Given the description of an element on the screen output the (x, y) to click on. 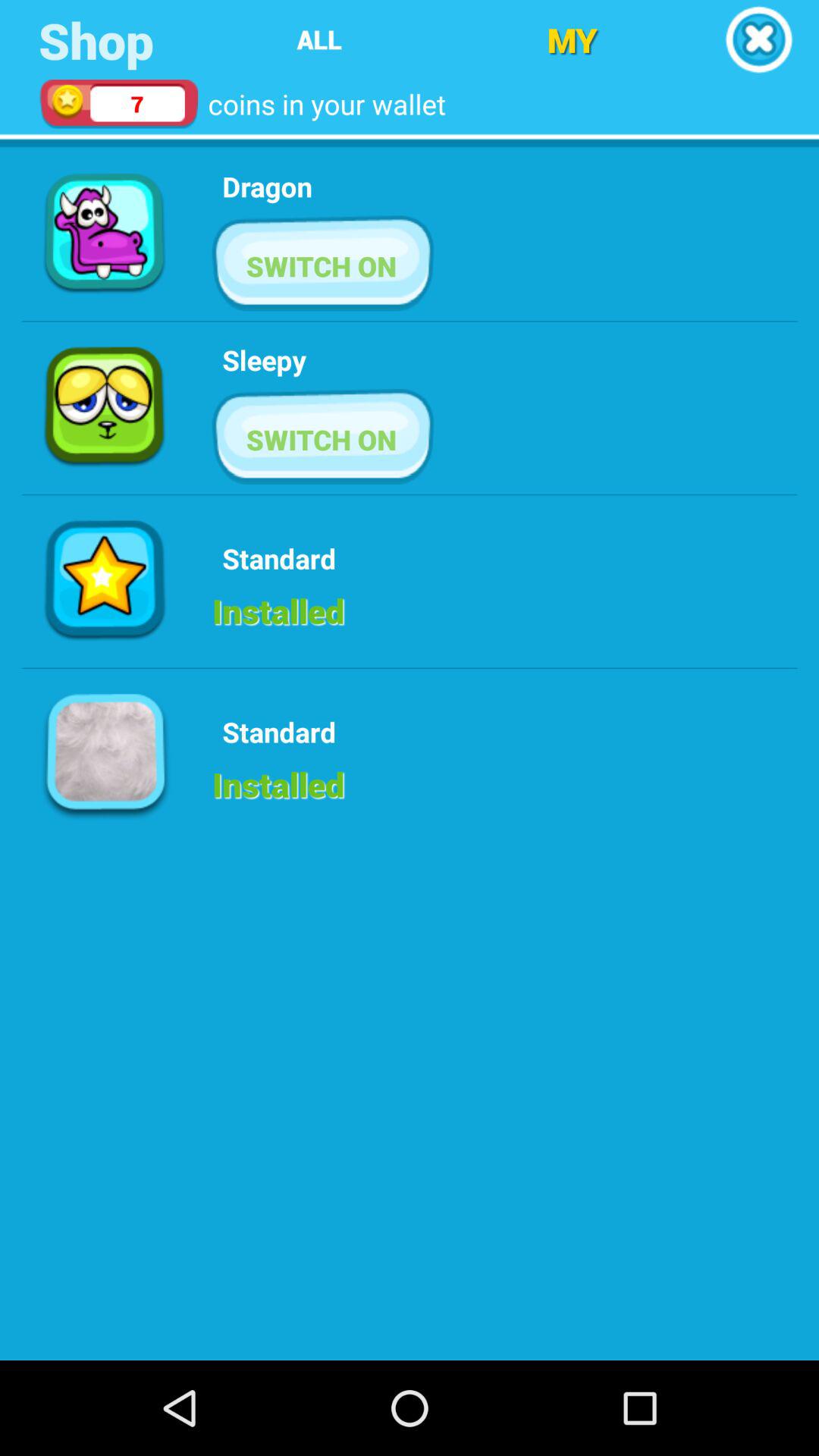
close window (758, 39)
